Given the description of an element on the screen output the (x, y) to click on. 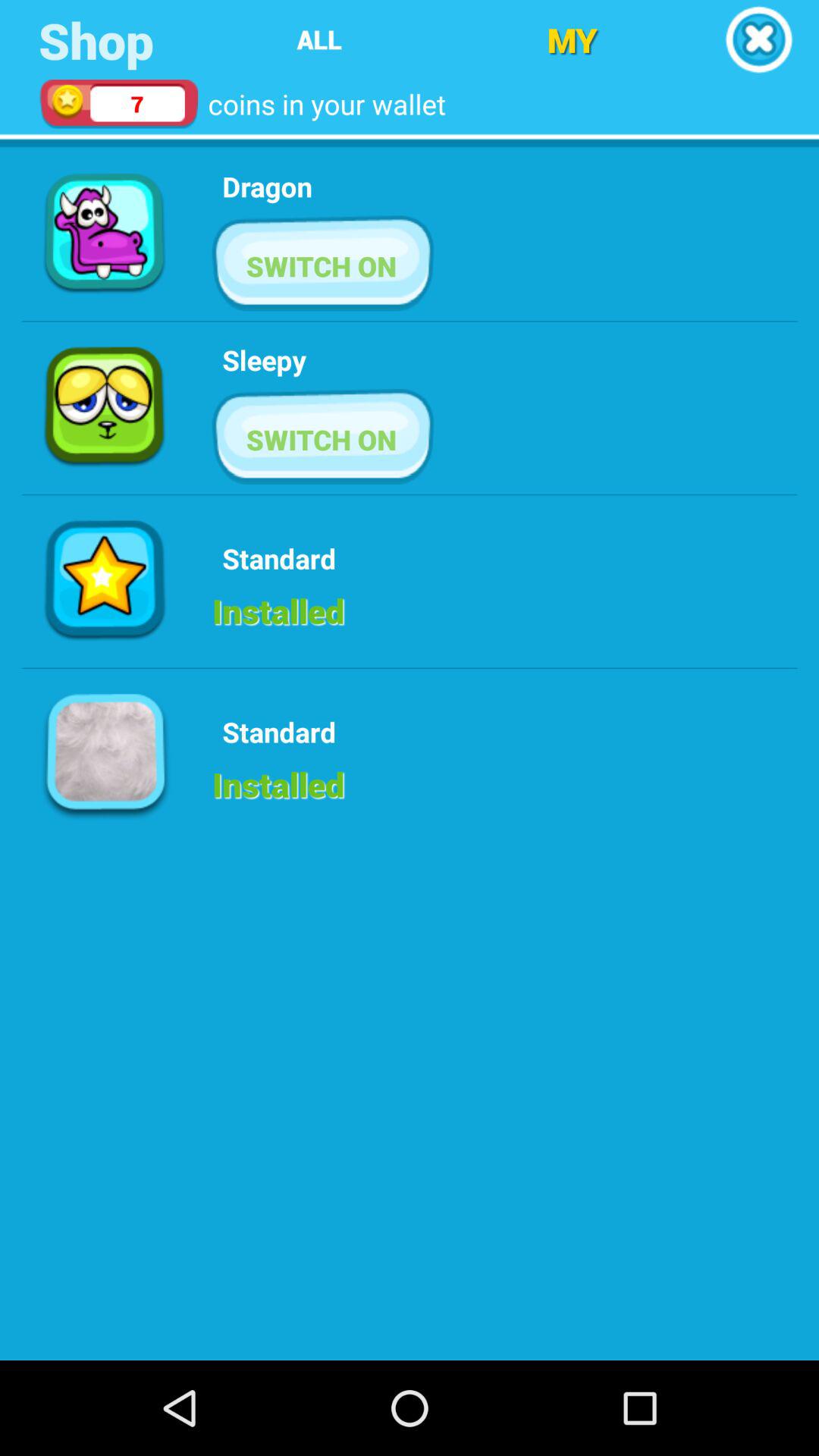
close window (758, 39)
